Given the description of an element on the screen output the (x, y) to click on. 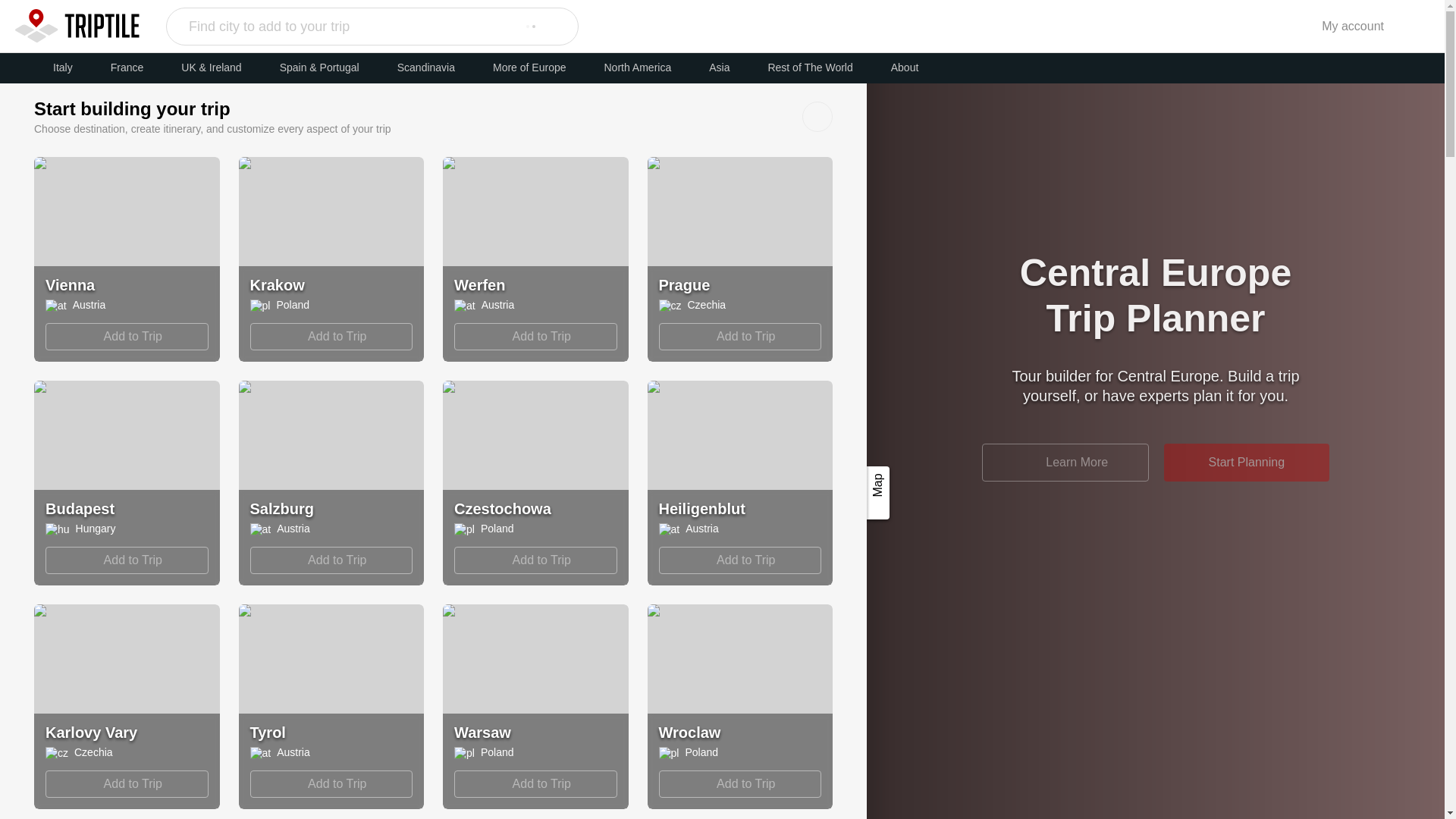
Prague (690, 285)
Italy (62, 67)
Scandinavia (425, 67)
Asia (719, 67)
France (535, 560)
Salzburg (126, 336)
